Given the description of an element on the screen output the (x, y) to click on. 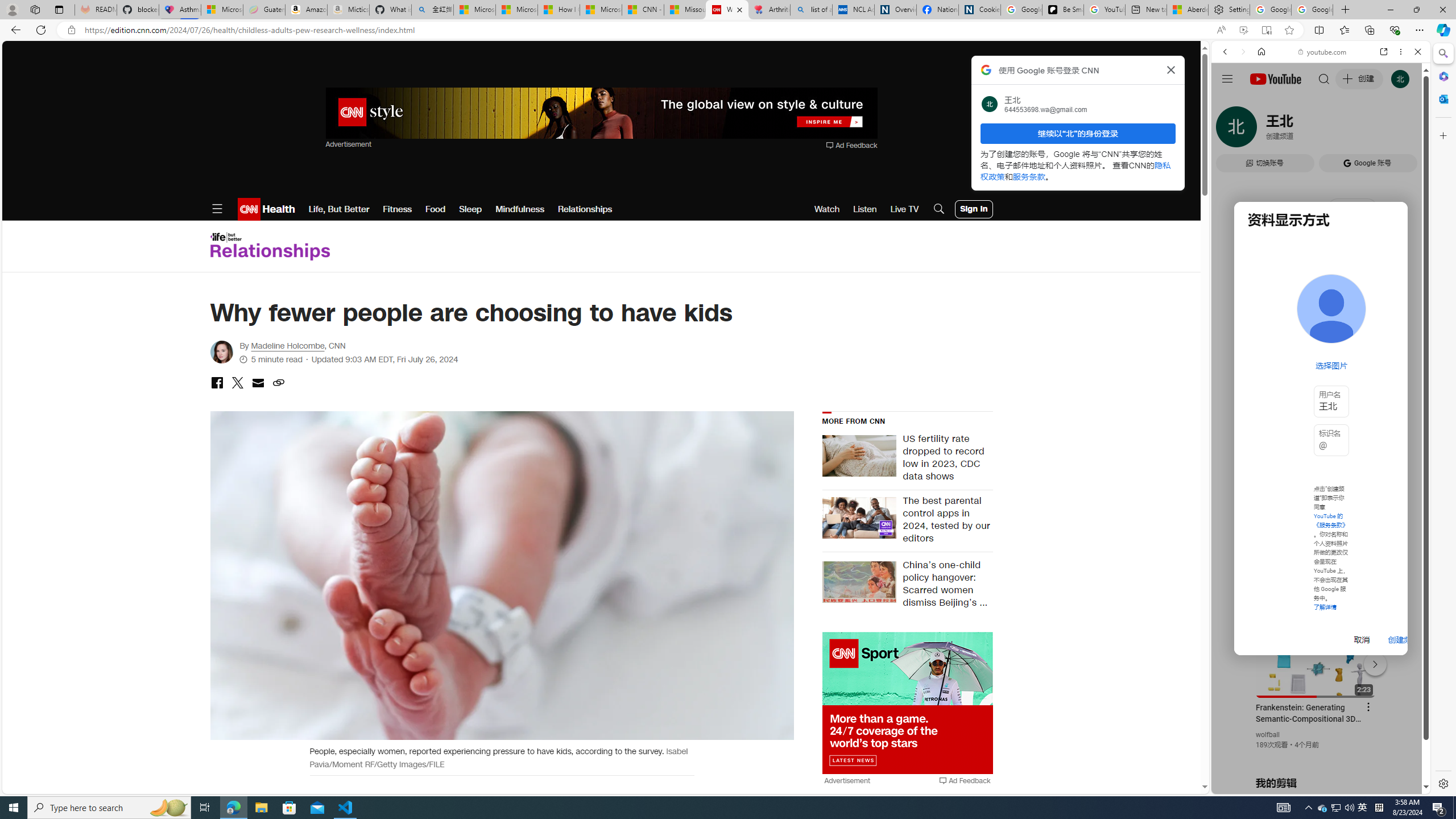
wolfball (1268, 734)
Search videos from youtube.com (1299, 373)
